Given the description of an element on the screen output the (x, y) to click on. 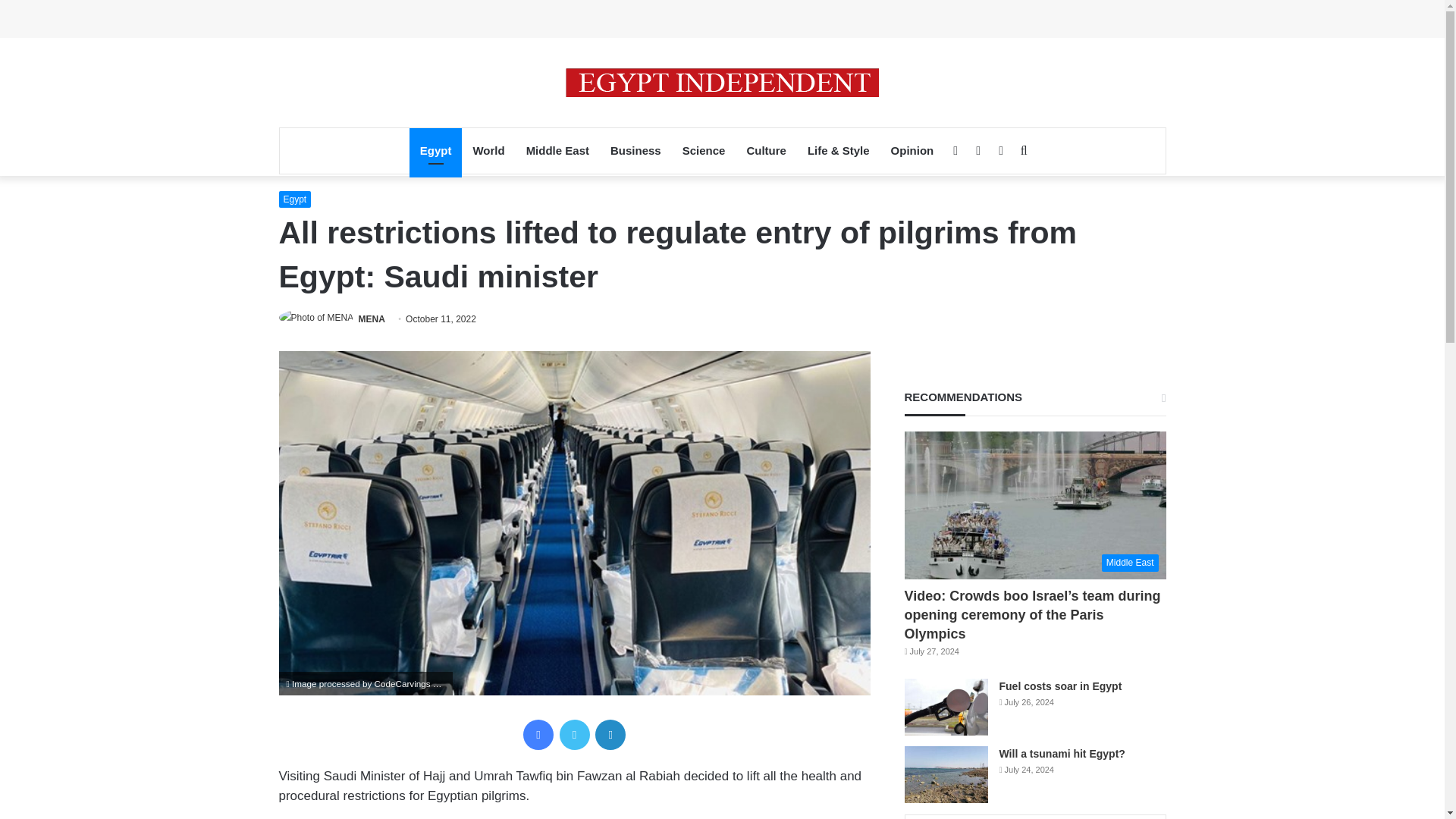
Twitter (574, 734)
Twitter (574, 734)
Facebook (537, 734)
Egypt Independent (722, 82)
LinkedIn (610, 734)
Business (635, 150)
Culture (765, 150)
Opinion (912, 150)
Egypt (295, 199)
MENA (371, 318)
MENA (371, 318)
Middle East (557, 150)
Science (703, 150)
Egypt (436, 150)
Facebook (537, 734)
